Given the description of an element on the screen output the (x, y) to click on. 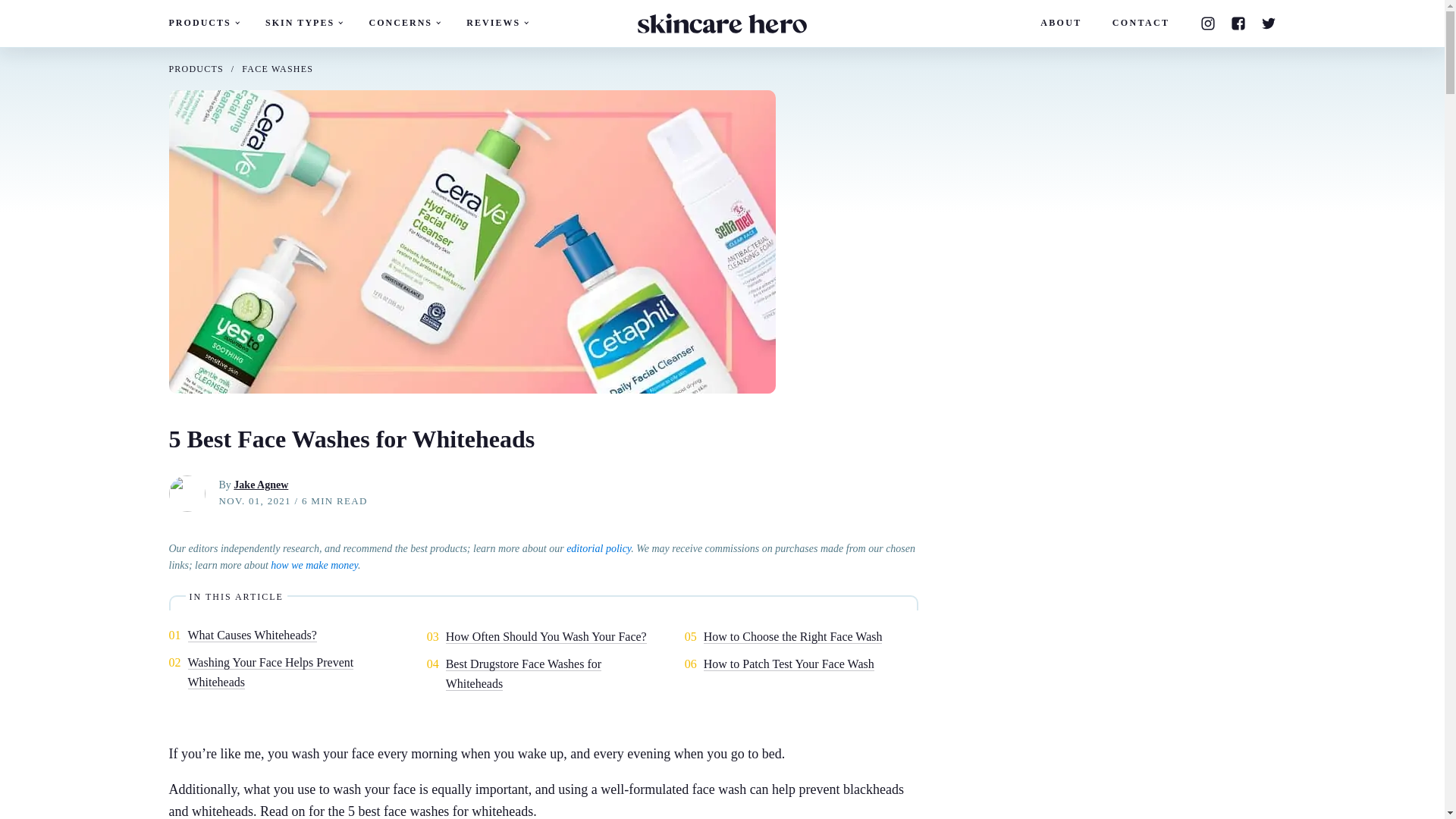
Go to the Face Washes category archives. (277, 68)
PRODUCTS (203, 22)
ABOUT (1061, 22)
What Causes Whiteheads? (252, 635)
SKIN TYPES (303, 22)
Go to the Products category archives. (195, 68)
FACE WASHES (277, 68)
how we make money (314, 564)
CONTACT (1141, 22)
REVIEWS (496, 22)
CONCERNS (403, 22)
editorial policy (598, 548)
Jake Agnew (260, 484)
PRODUCTS (195, 68)
